Given the description of an element on the screen output the (x, y) to click on. 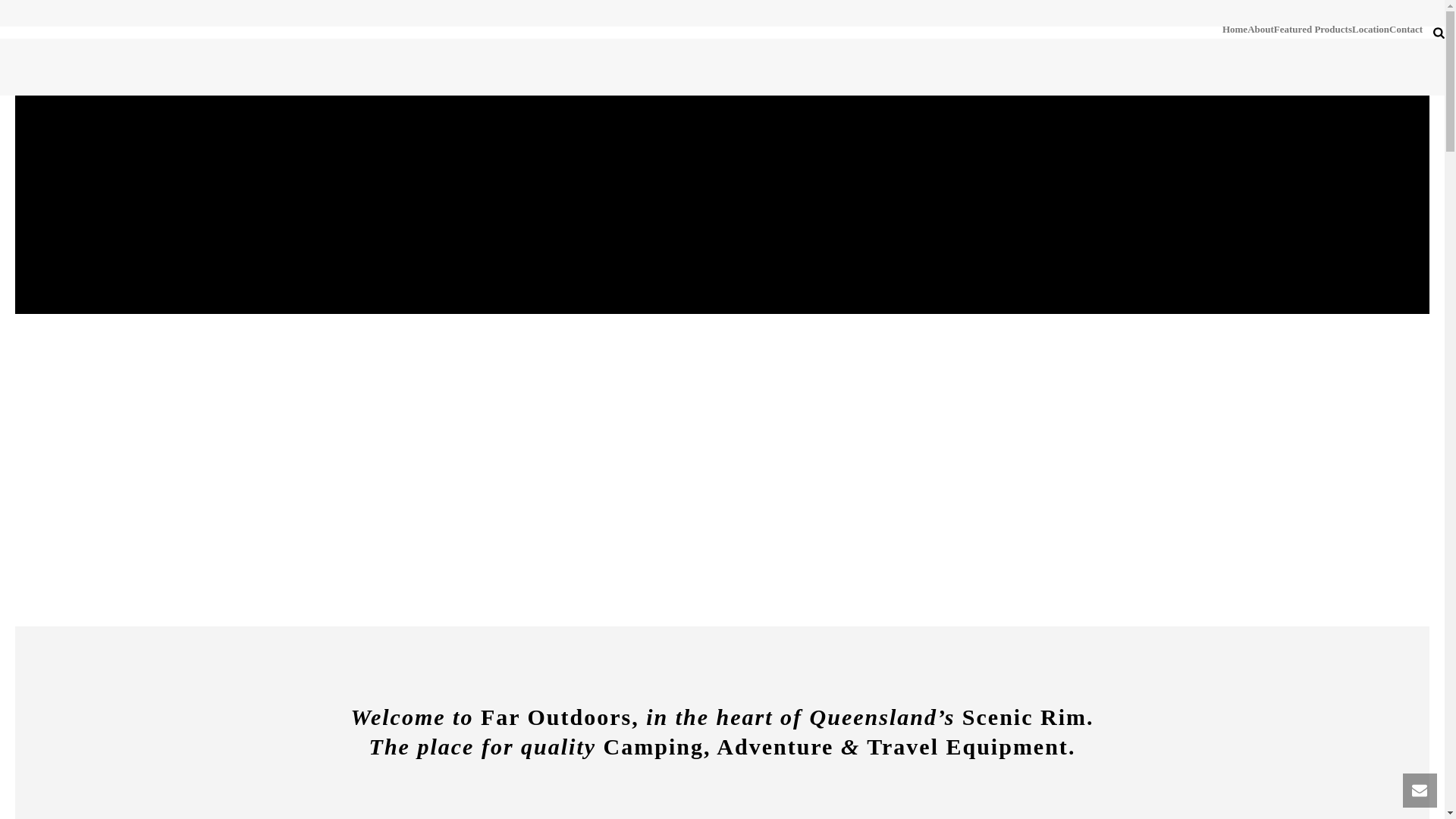
About Element type: text (1260, 29)
Contact Element type: text (1405, 29)
Home Element type: text (1234, 29)
Location Element type: text (1370, 29)
Featured Products Element type: text (1313, 29)
